Given the description of an element on the screen output the (x, y) to click on. 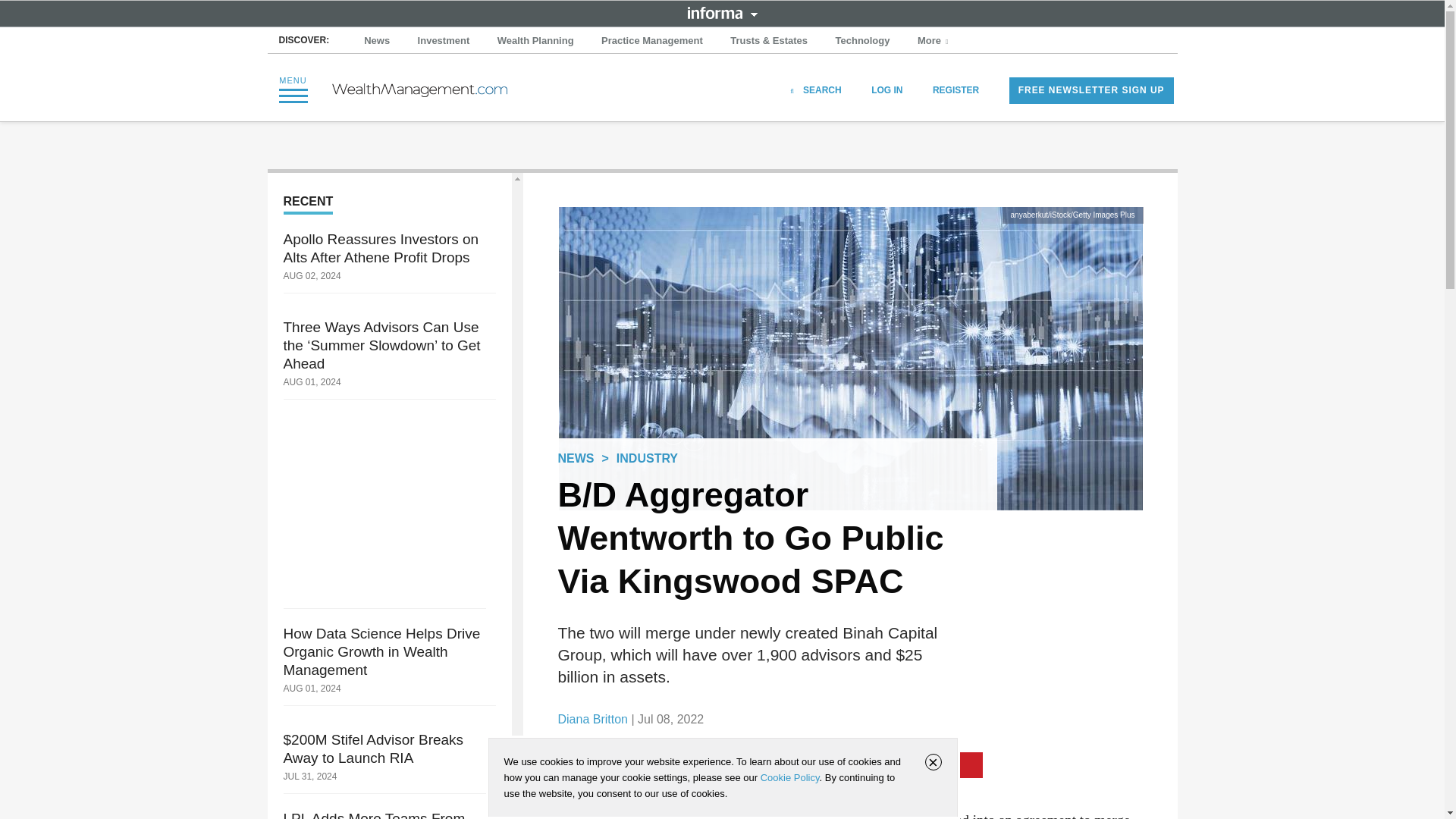
More (934, 41)
Technology (862, 41)
Practice Management (652, 41)
Cookie Policy (789, 777)
Investment (444, 41)
Wealth Planning (535, 41)
INFORMA (722, 12)
News (377, 41)
